Given the description of an element on the screen output the (x, y) to click on. 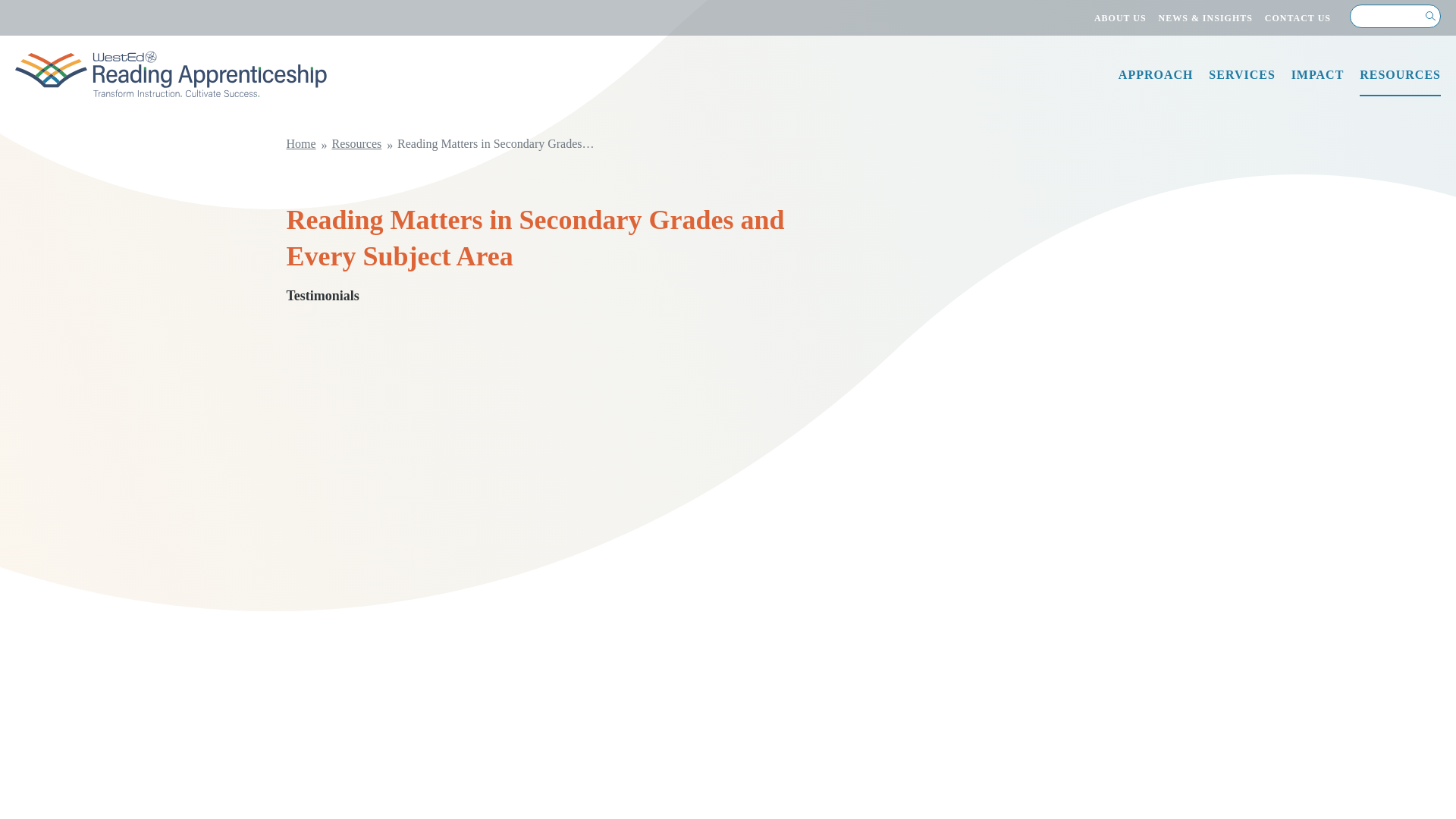
Home (303, 143)
SERVICES (1241, 80)
CONTACT US (1297, 16)
ABOUT US (1120, 16)
APPROACH (1155, 80)
IMPACT (1317, 80)
RESOURCES (1400, 81)
Resources (354, 143)
